Given the description of an element on the screen output the (x, y) to click on. 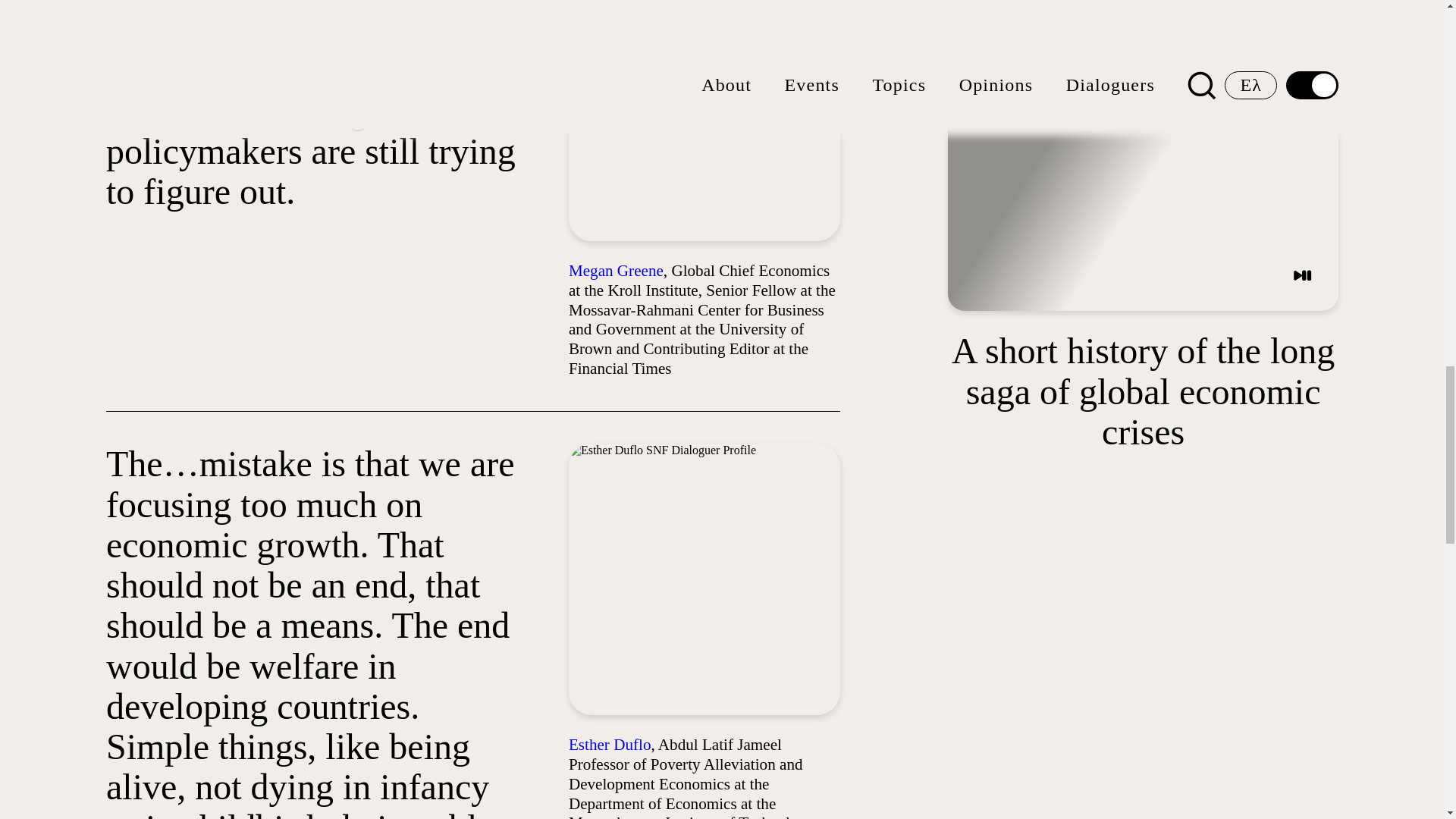
Megan Greene (616, 270)
Esther Duflo (609, 744)
Megan Greene (616, 270)
A short history of the long saga of global economic crises (1142, 391)
Esther Duflo (609, 744)
